Given the description of an element on the screen output the (x, y) to click on. 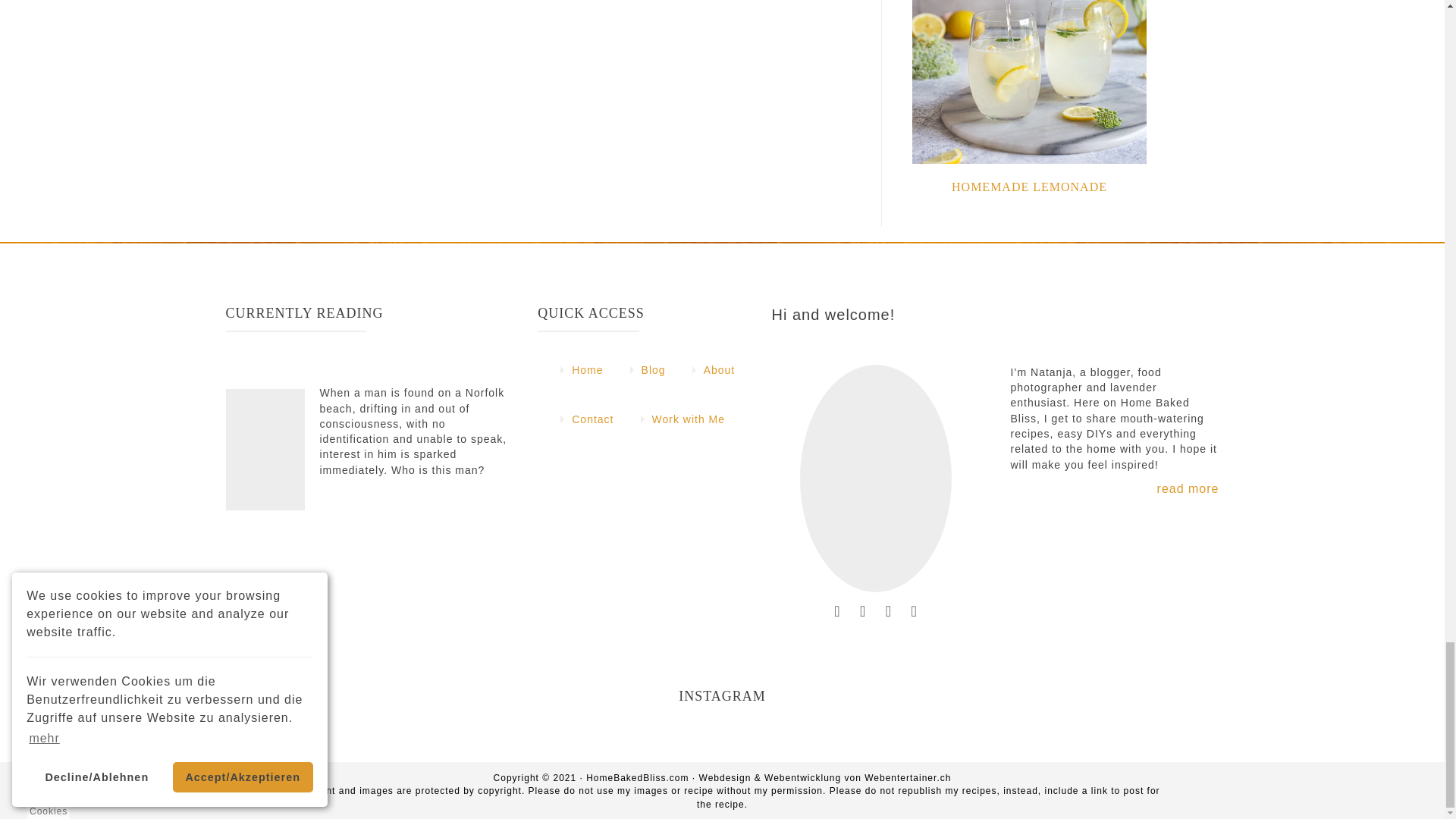
Homemade Lemonade (1029, 186)
